Given the description of an element on the screen output the (x, y) to click on. 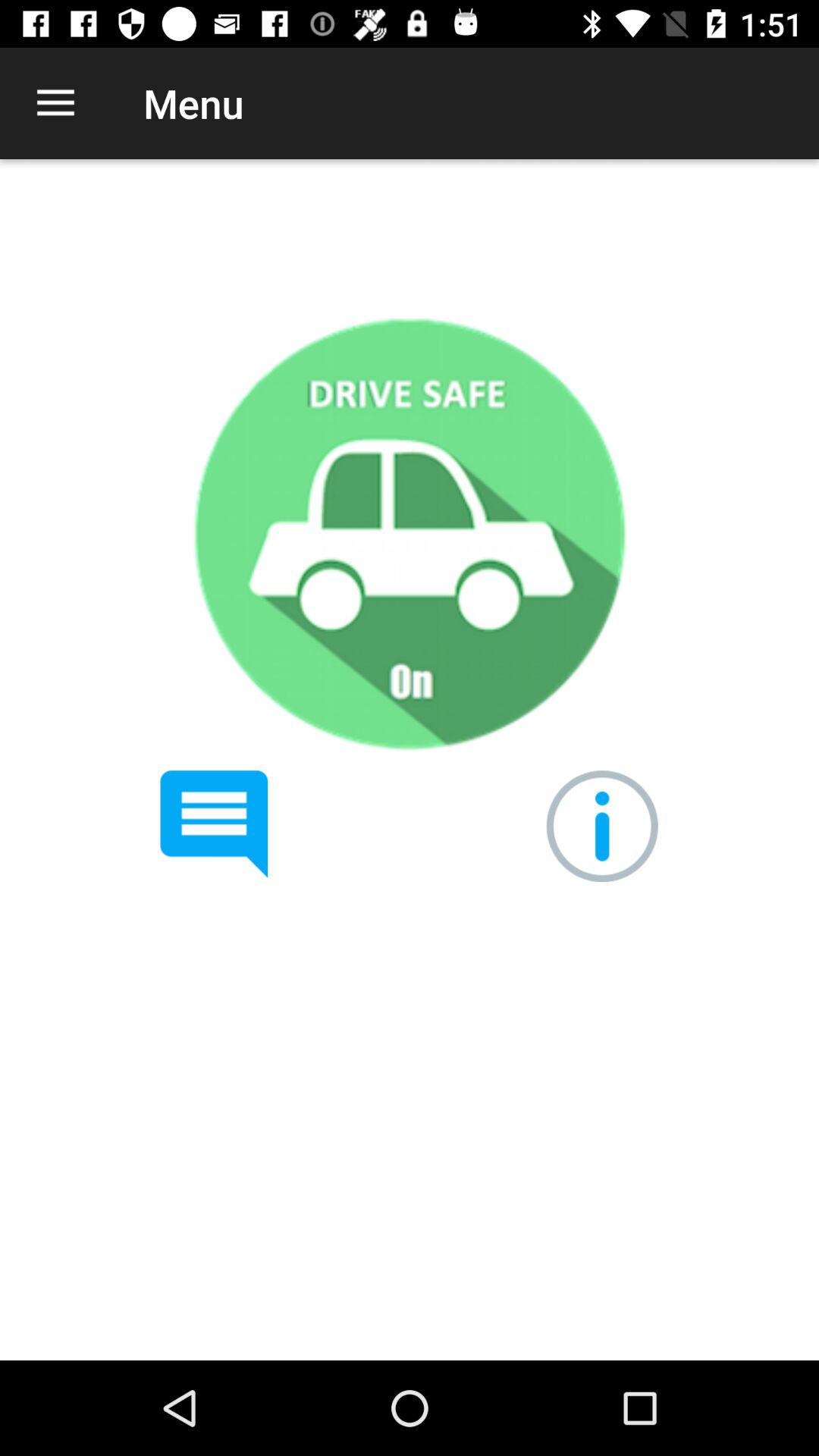
press item at the center (409, 533)
